Given the description of an element on the screen output the (x, y) to click on. 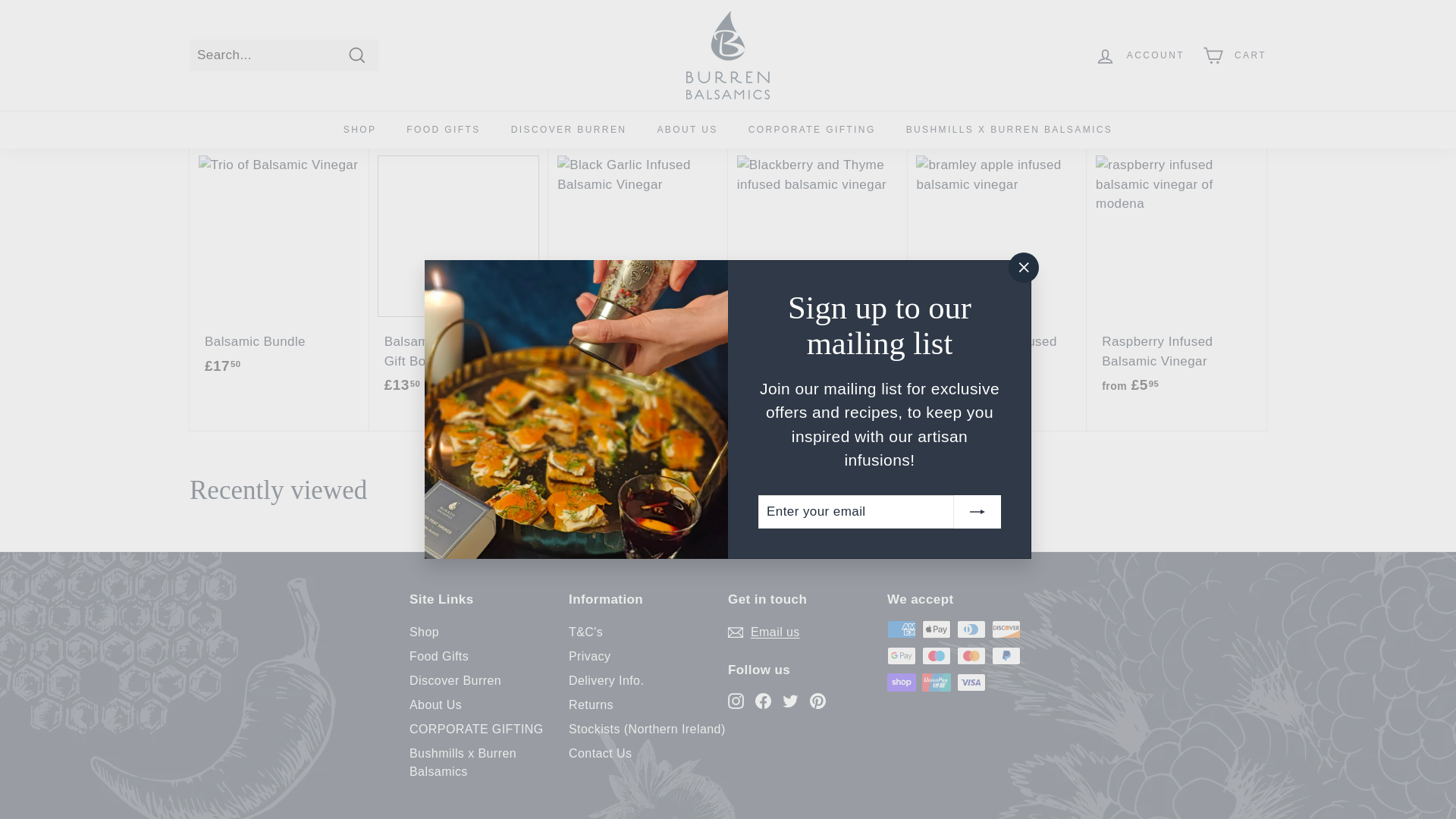
Diners Club (970, 628)
Shop Pay (900, 682)
American Express (900, 628)
Union Pay (935, 682)
Maestro (935, 656)
PayPal (1005, 656)
Google Pay (900, 656)
Apple Pay (935, 628)
Visa (970, 682)
Mastercard (970, 656)
Discover (1005, 628)
